Given the description of an element on the screen output the (x, y) to click on. 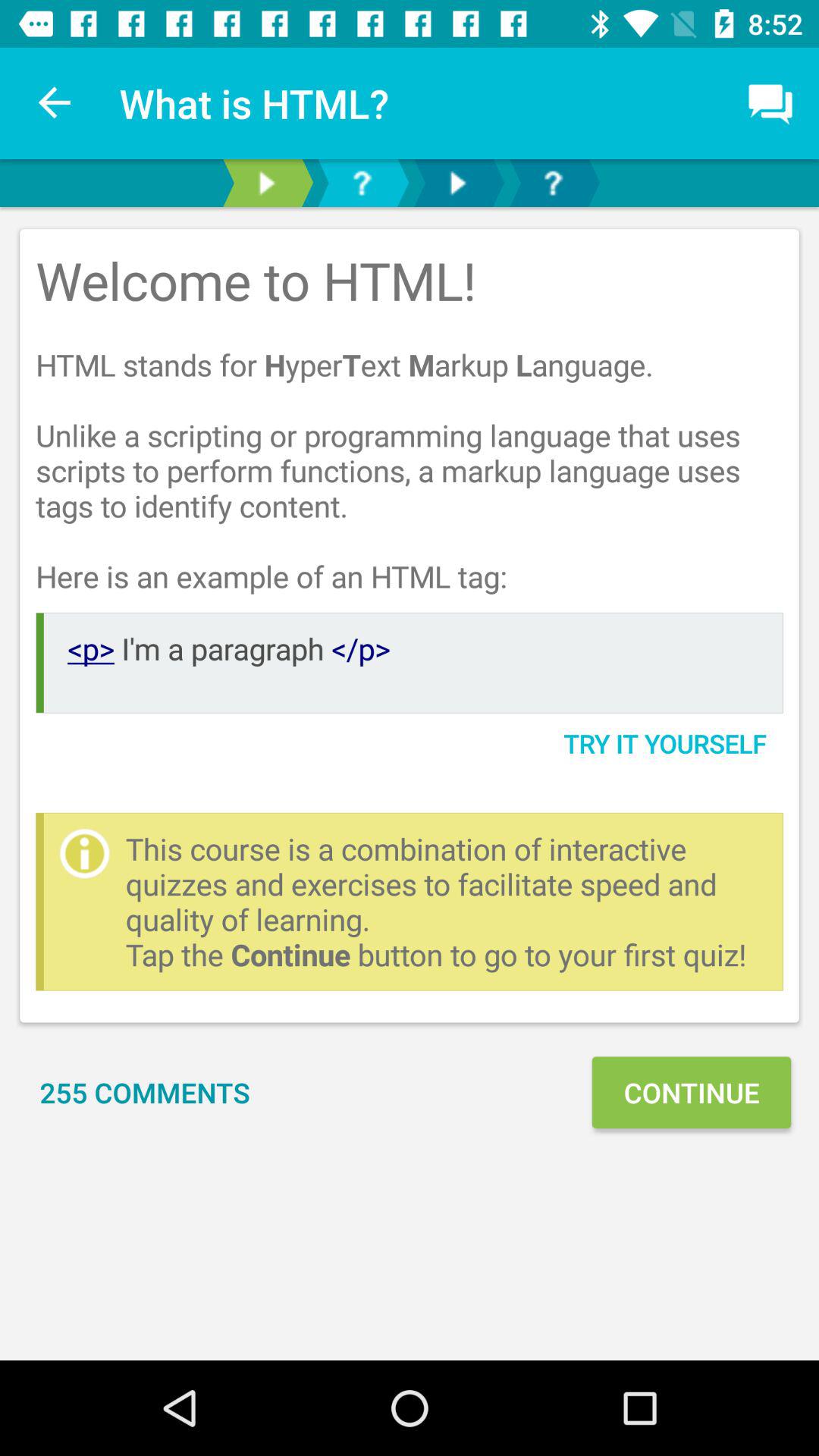
go to next (457, 183)
